Given the description of an element on the screen output the (x, y) to click on. 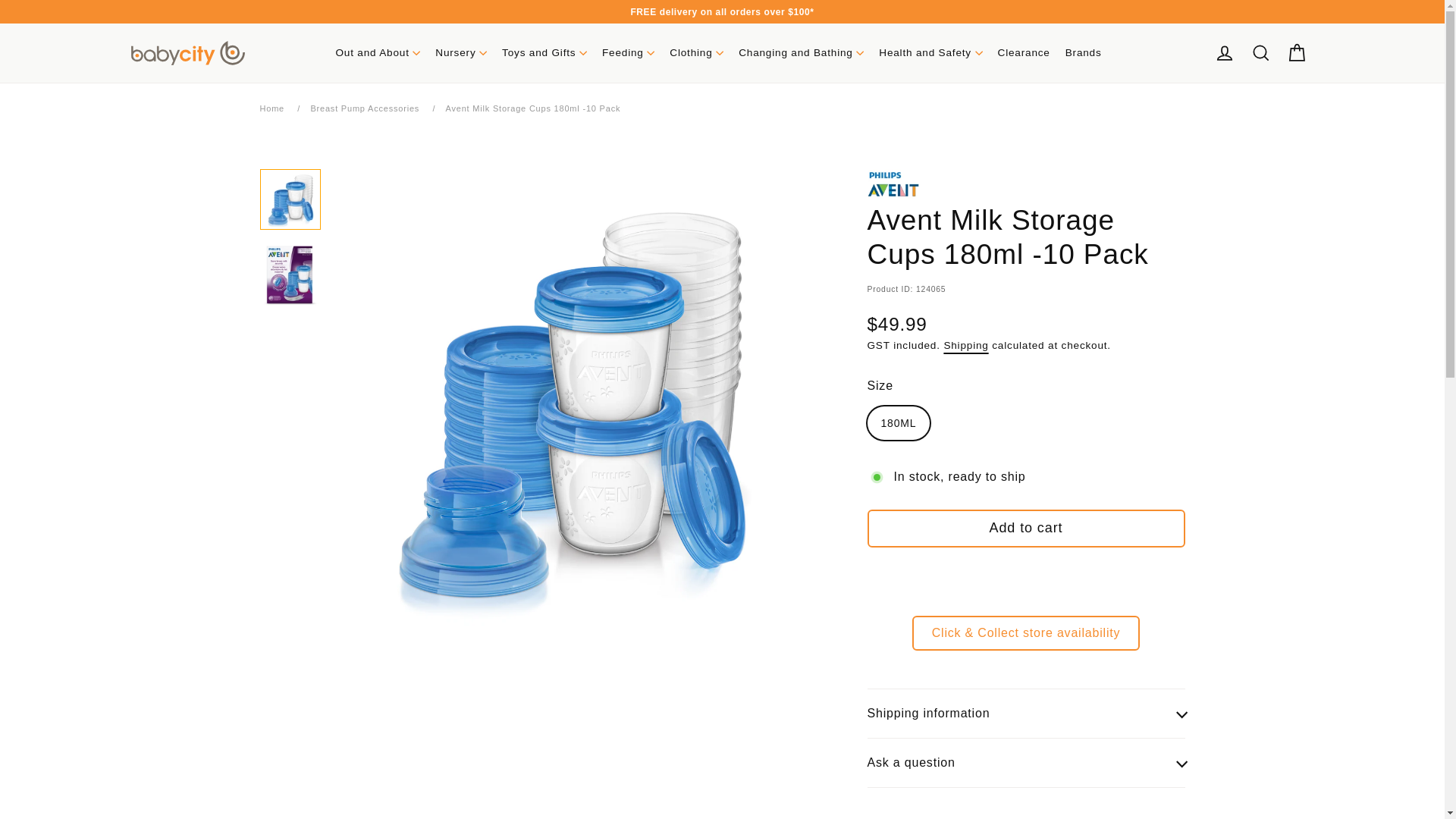
Home (271, 108)
Breast Pump Accessories (364, 108)
